Given the description of an element on the screen output the (x, y) to click on. 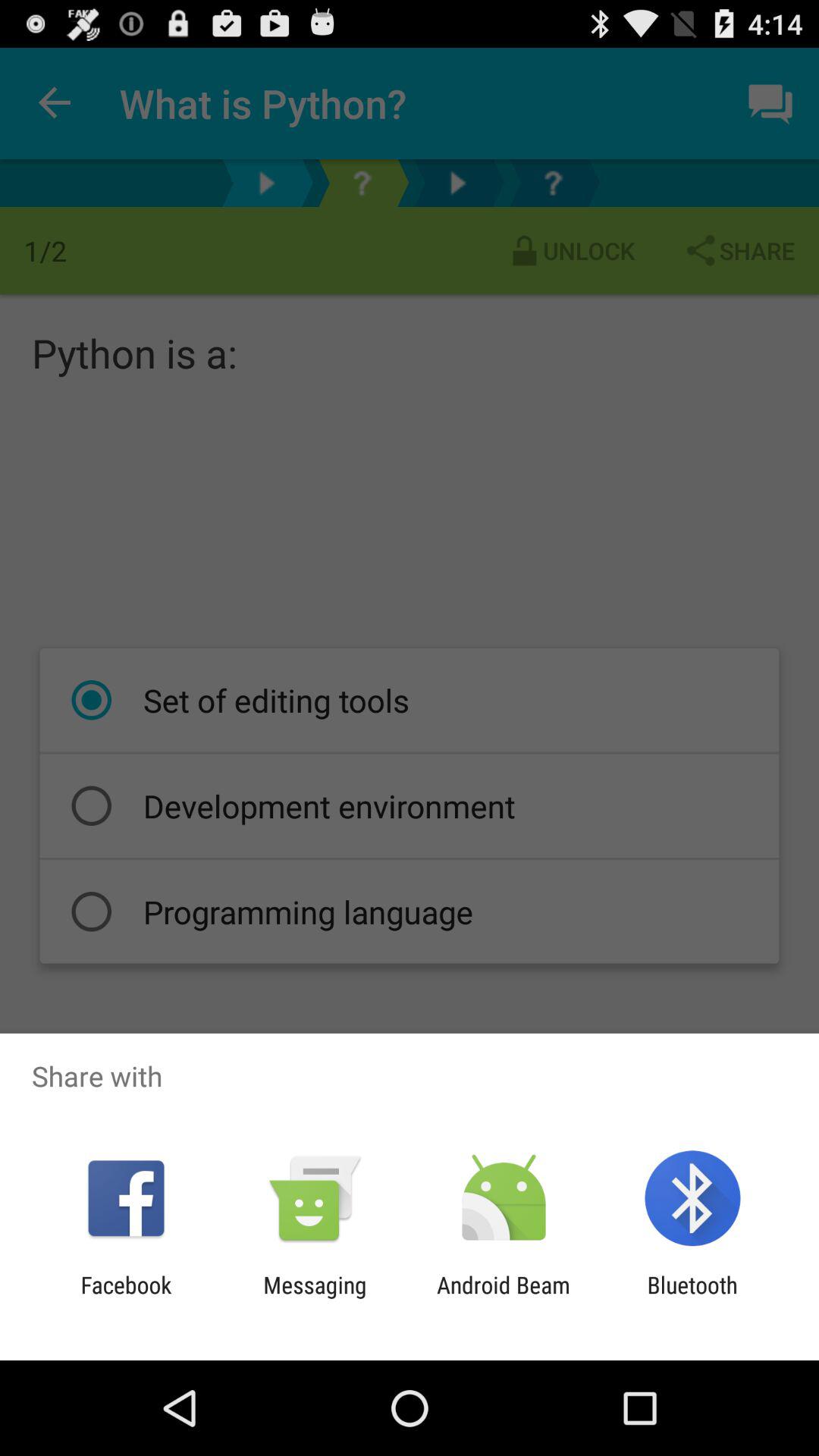
press the android beam icon (503, 1298)
